Given the description of an element on the screen output the (x, y) to click on. 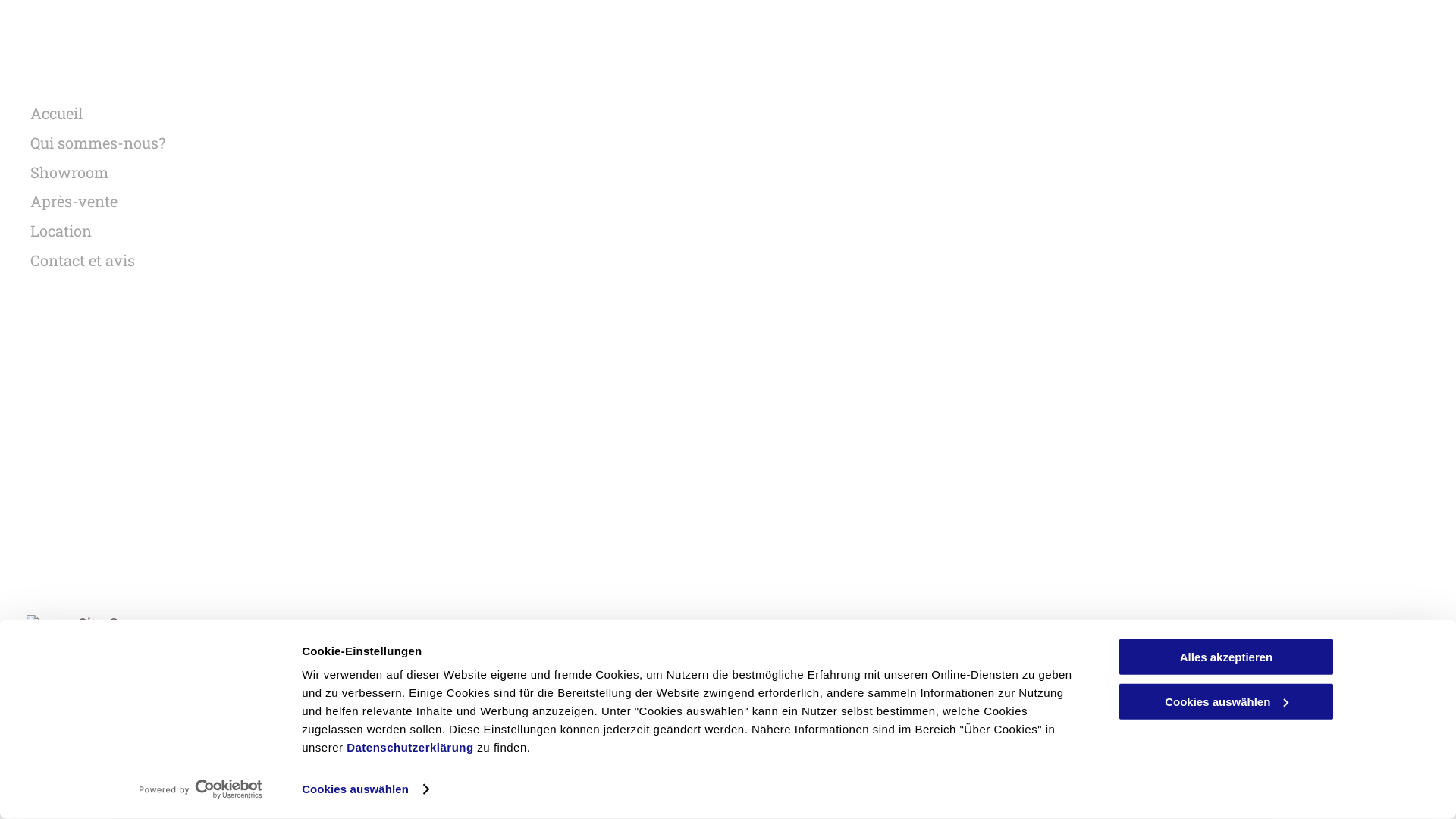
Showroom Element type: text (281, 807)
Location Element type: text (489, 807)
Alles akzeptieren Element type: text (1225, 656)
Contact et avis Element type: text (594, 807)
Qui sommes-nous? Element type: text (314, 142)
Accueil Element type: text (314, 113)
Accueil Element type: text (33, 807)
Qui sommes-nous? Element type: text (149, 807)
Showroom Element type: text (314, 172)
Location Element type: text (314, 230)
Contact et avis Element type: text (314, 260)
